Given the description of an element on the screen output the (x, y) to click on. 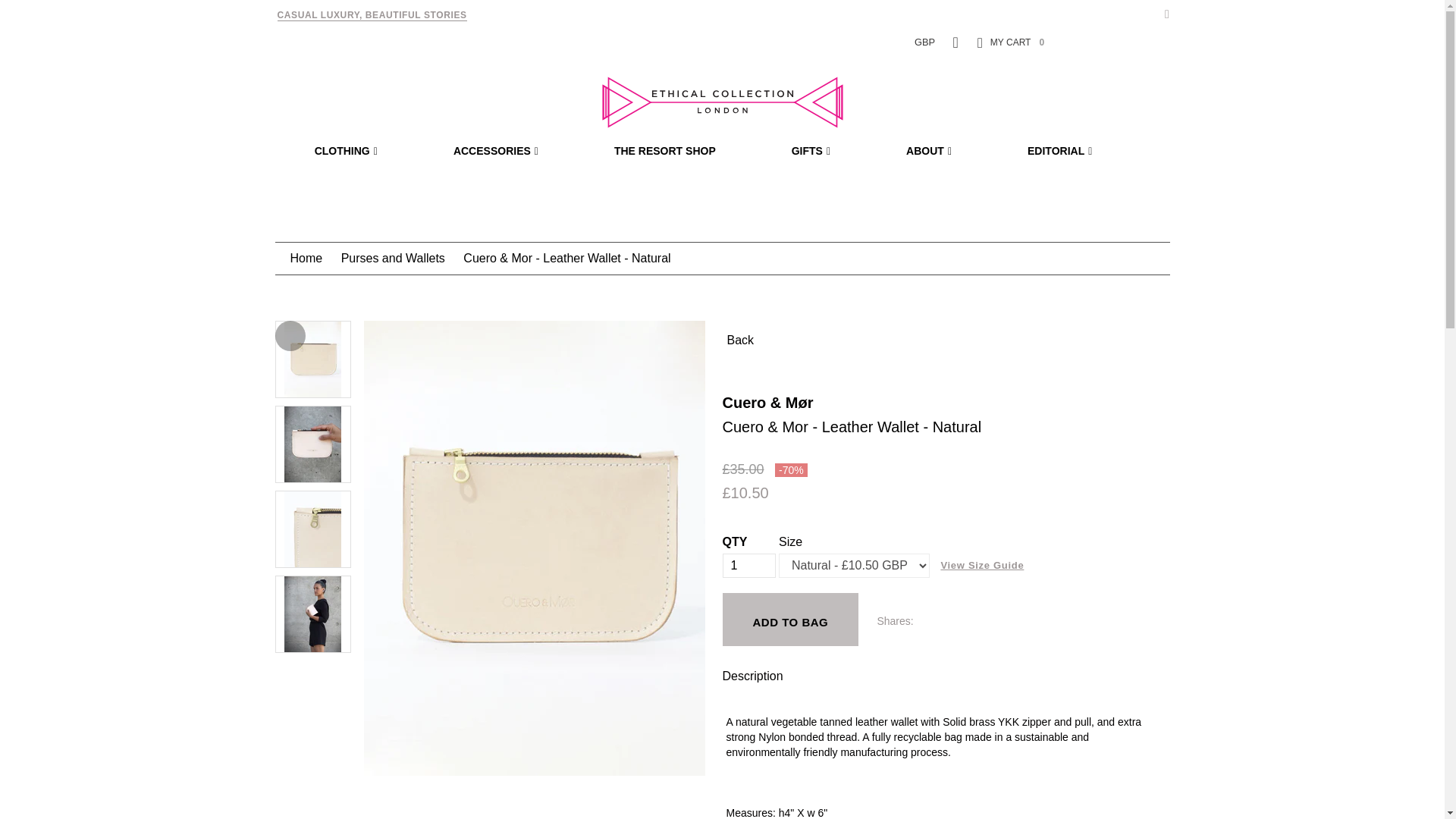
Quantity (748, 565)
Purses and Wallets (392, 257)
GBP (924, 41)
1 (748, 565)
CASUAL LUXURY, BEAUTIFUL STORIES (372, 15)
Ethical Collection London (721, 101)
